Given the description of an element on the screen output the (x, y) to click on. 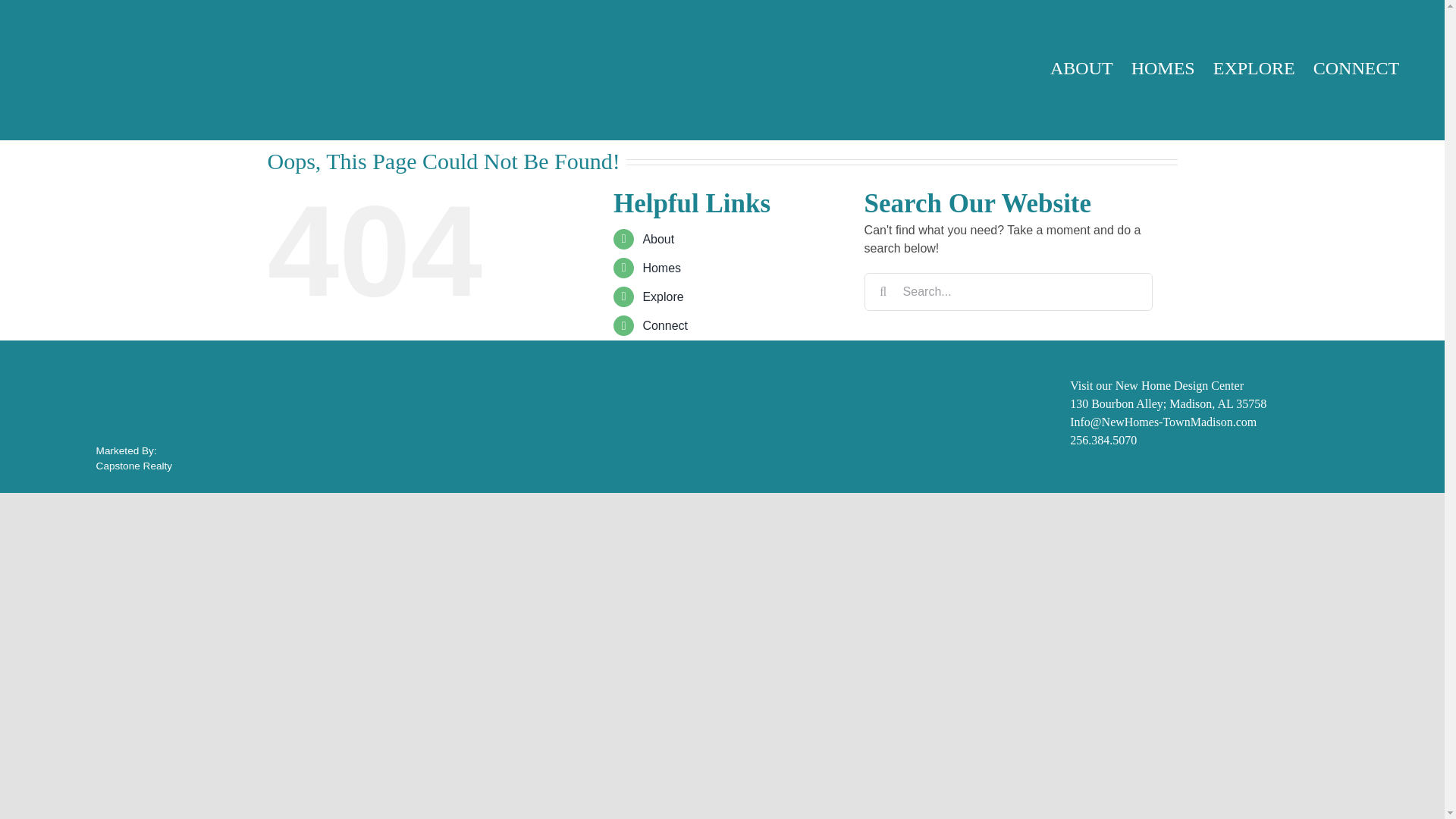
HOMES (1171, 67)
Logo (74, 402)
EXPLORE (1262, 67)
256.384.5070 (1103, 440)
Homes (661, 267)
CONNECT (1364, 67)
Connect (664, 325)
Logo (90, 67)
About (658, 237)
Explore (662, 296)
